Given the description of an element on the screen output the (x, y) to click on. 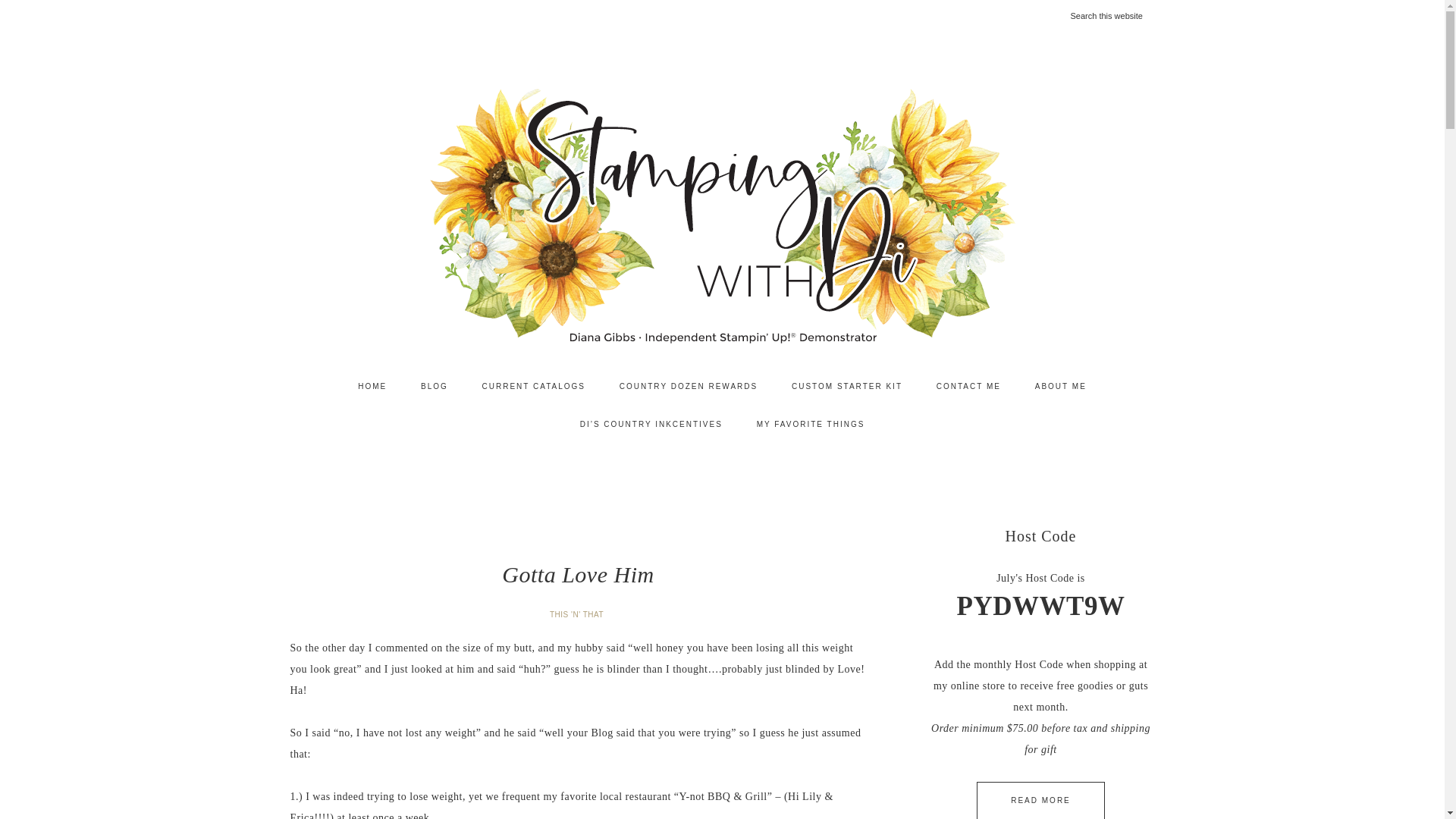
MY FAVORITE THINGS (810, 424)
READ MORE (1040, 800)
CURRENT CATALOGS (533, 386)
BLOG (434, 386)
COUNTRY DOZEN REWARDS (688, 386)
CONTACT ME (968, 386)
ABOUT ME (1061, 386)
HOME (371, 386)
THIS 'N' THAT (578, 614)
CUSTOM STARTER KIT (846, 386)
